Given the description of an element on the screen output the (x, y) to click on. 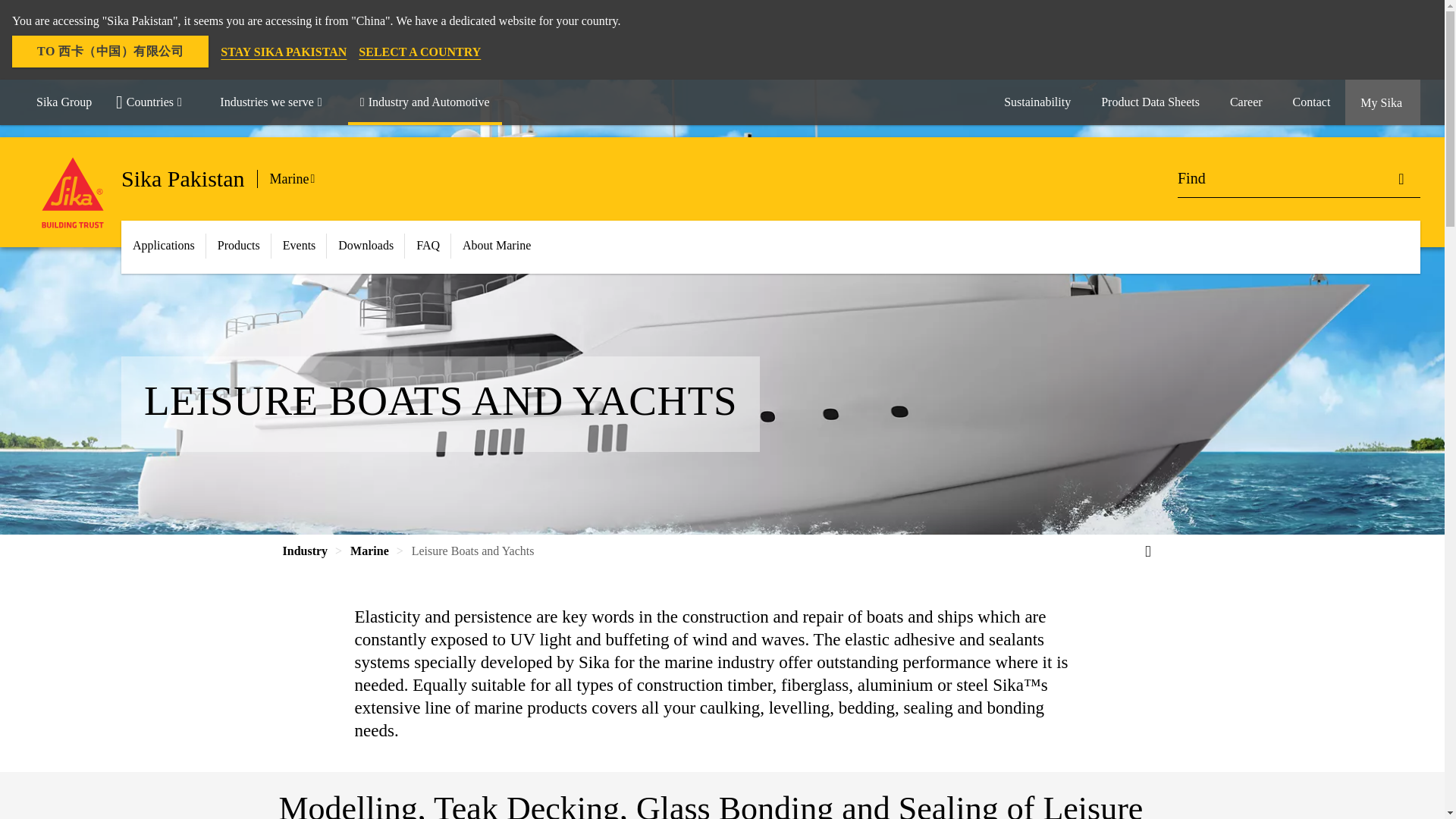
Marine (298, 178)
My Sika  (1383, 102)
Sika Logo (72, 192)
Countries (155, 102)
Industry and Automotive (424, 102)
Contact (1311, 102)
STAY SIKA PAKISTAN (283, 51)
Career (1246, 102)
Sustainability (1037, 102)
Industries we serve (277, 102)
Product Data Sheets (1150, 102)
SELECT A COUNTRY (419, 51)
Sika Group (63, 102)
